Given the description of an element on the screen output the (x, y) to click on. 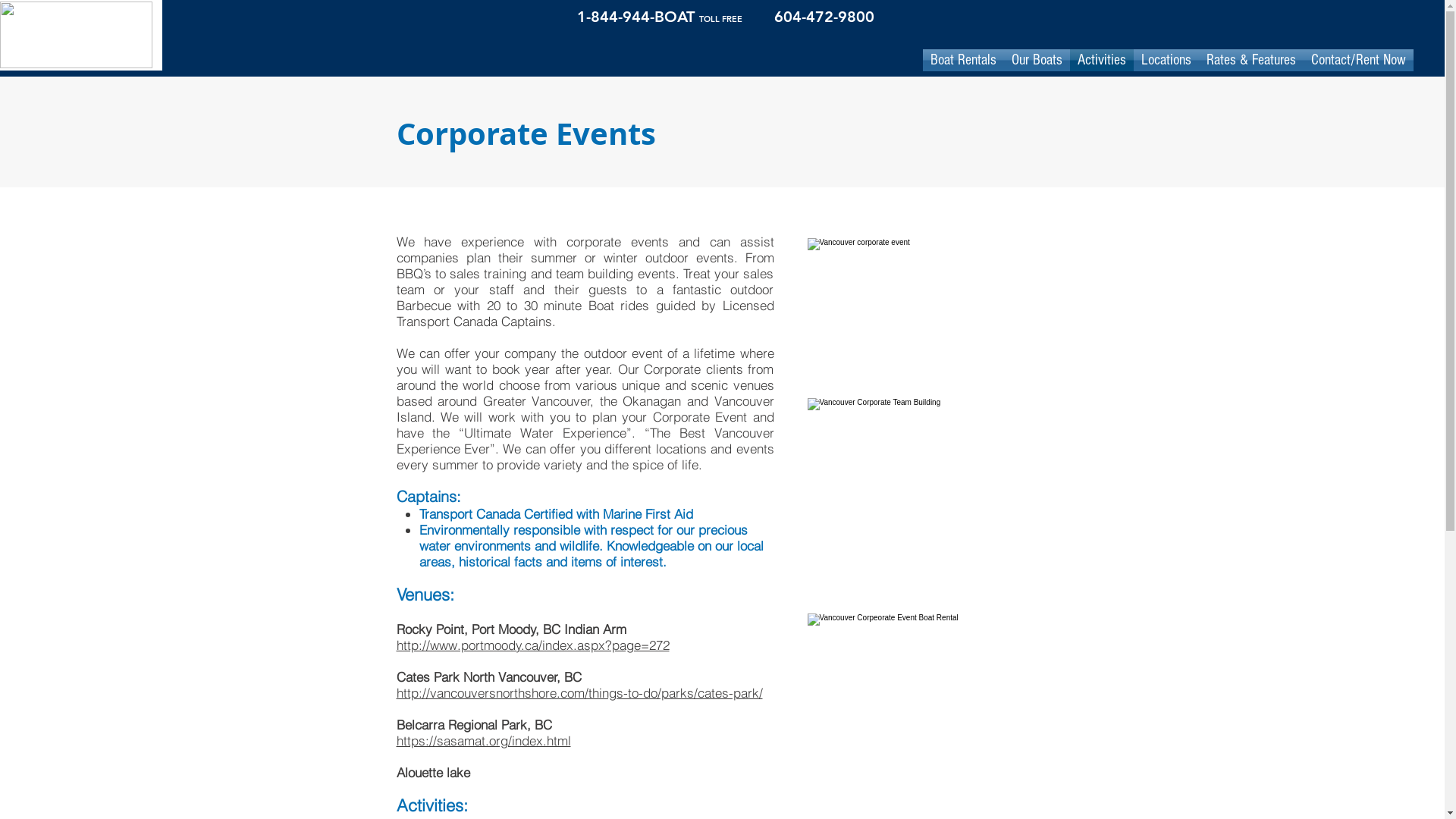
vancouverboatrentals1.png Element type: hover (76, 34)
Locations Element type: text (1165, 60)
Activities Element type: text (1100, 60)
http://www.portmoody.ca/index.aspx?page=272 Element type: text (531, 644)
https://sasamat.org/index.html Element type: text (482, 740)
Our Boats Element type: text (1037, 60)
Boat Rentals Element type: text (962, 60)
Contact/Rent Now Element type: text (1357, 60)
Rates & Features Element type: text (1250, 60)
